Given the description of an element on the screen output the (x, y) to click on. 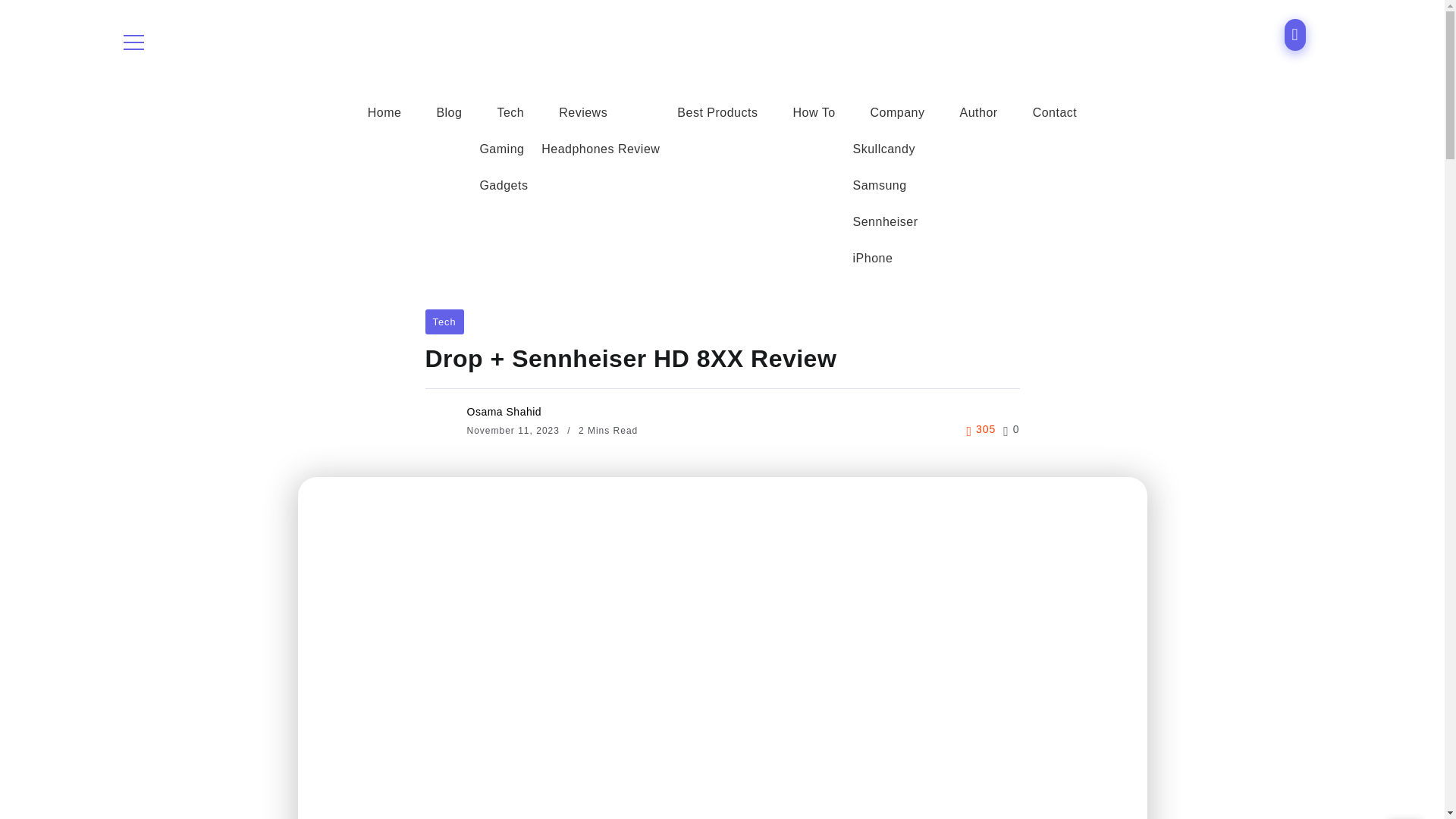
Gaming (501, 149)
Reviews (583, 112)
Blog (448, 112)
Desire Nation (706, 41)
Gadgets (503, 185)
Home (384, 112)
Headphones Review (600, 149)
Tech (509, 112)
